Given the description of an element on the screen output the (x, y) to click on. 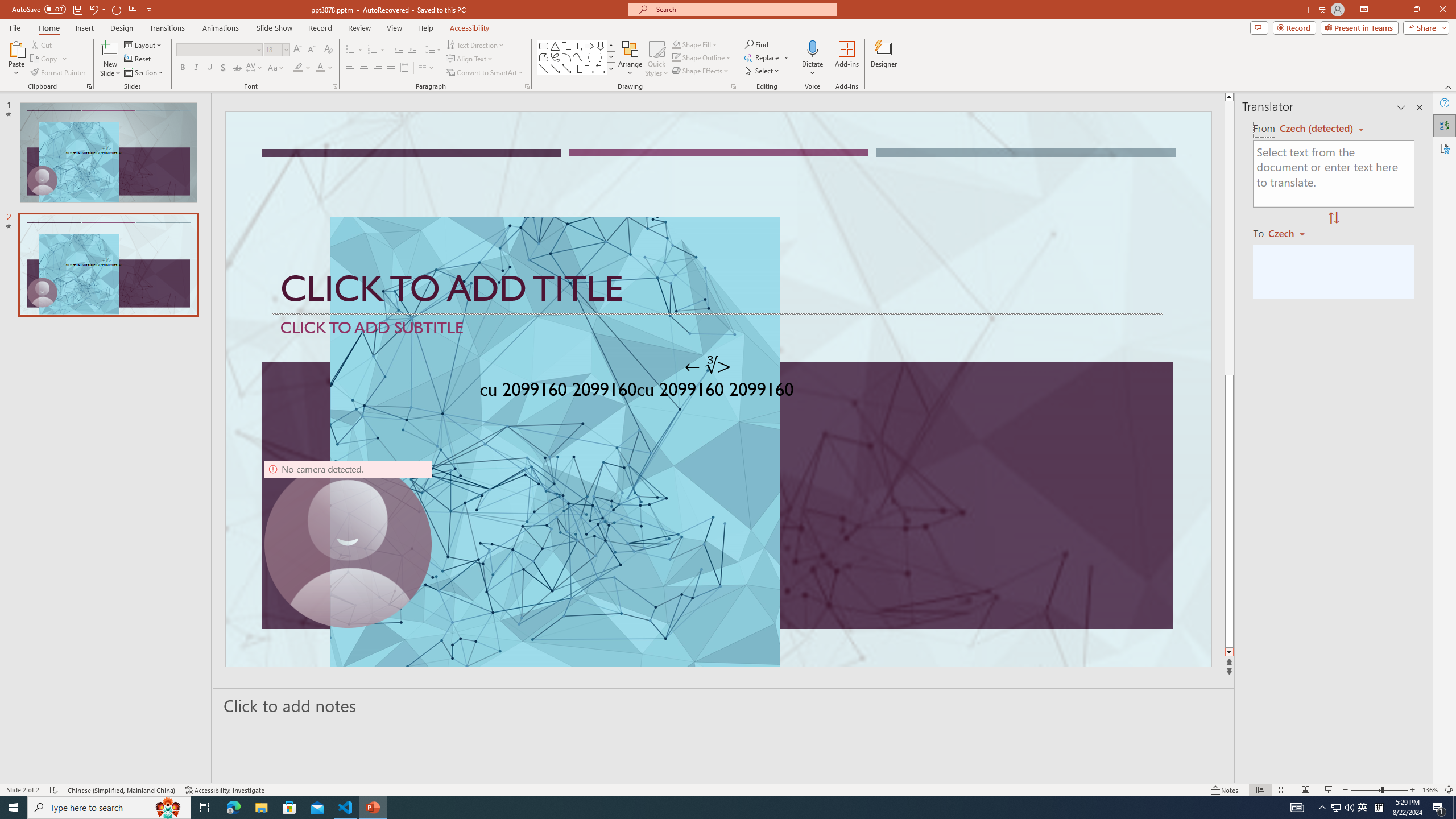
Line Arrow: Double (566, 68)
